Given the description of an element on the screen output the (x, y) to click on. 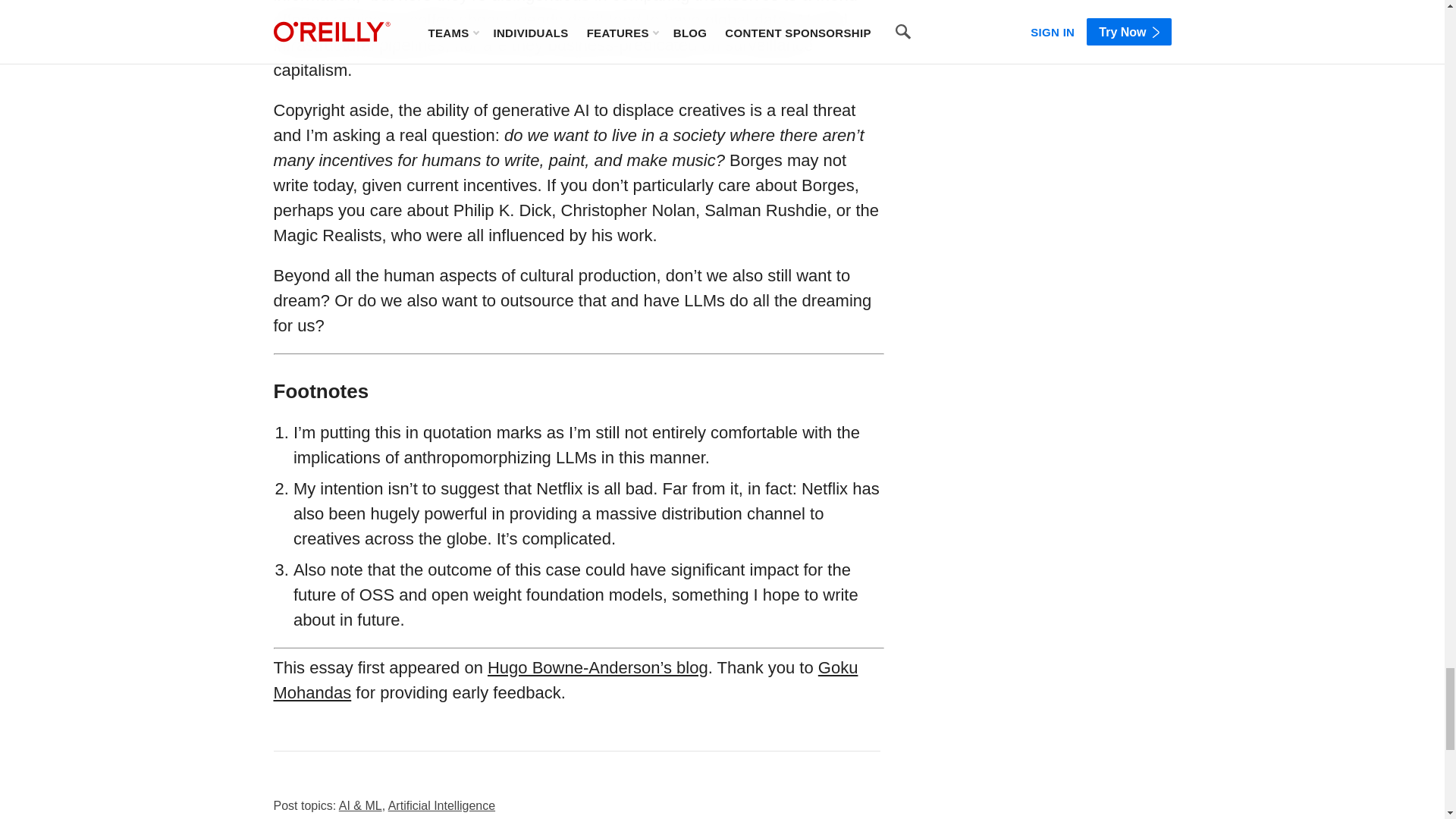
Artificial Intelligence (441, 805)
